Given the description of an element on the screen output the (x, y) to click on. 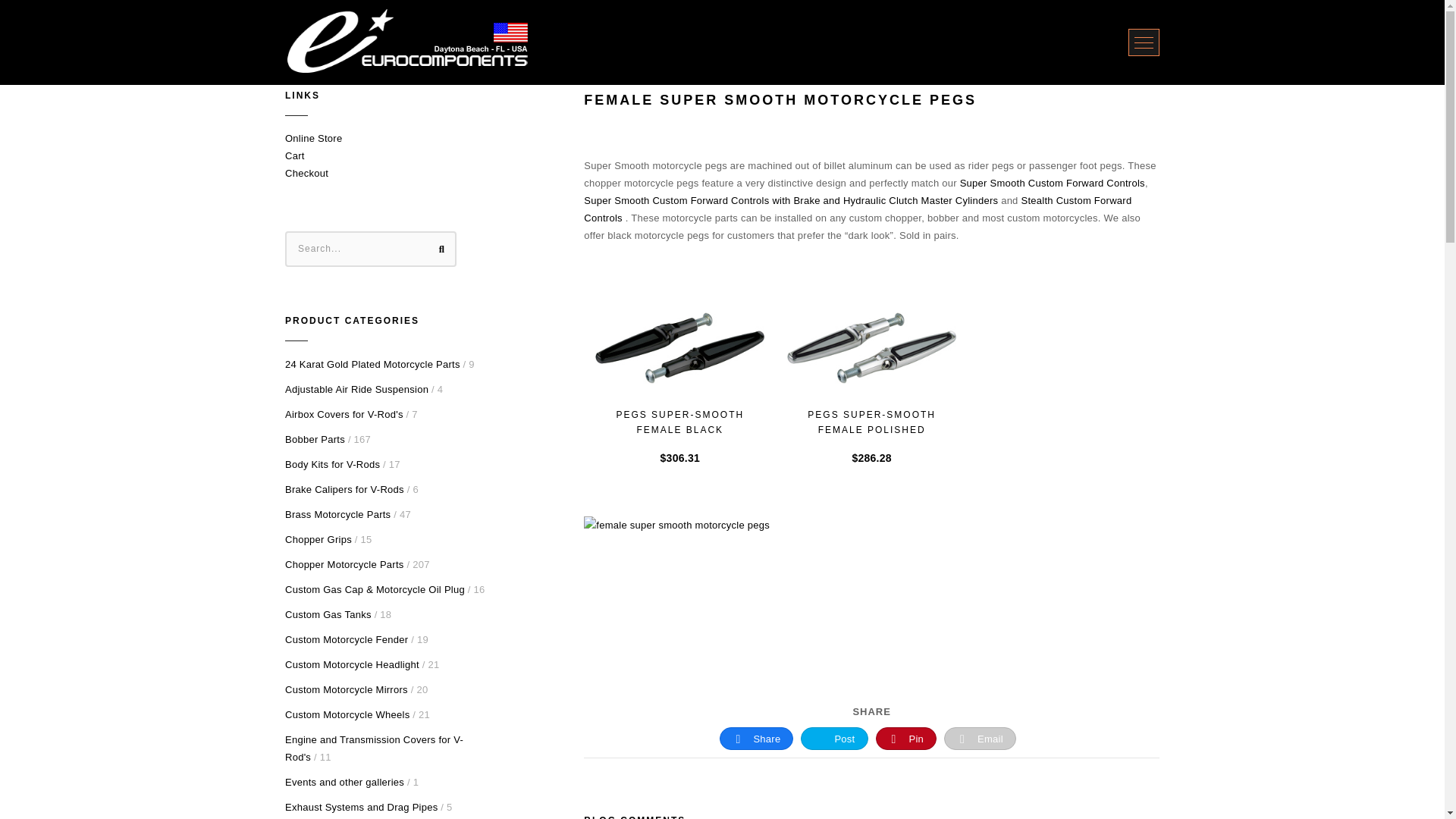
Permanent Link: Super Smooth Custom Forward Controls (1051, 183)
pegs super-smooth female black (679, 347)
pegs super-smooth female polished (871, 347)
female super smooth motorcycle pegs (801, 608)
Permanent Link: Stealth Custom Forward Controls (857, 208)
